Given the description of an element on the screen output the (x, y) to click on. 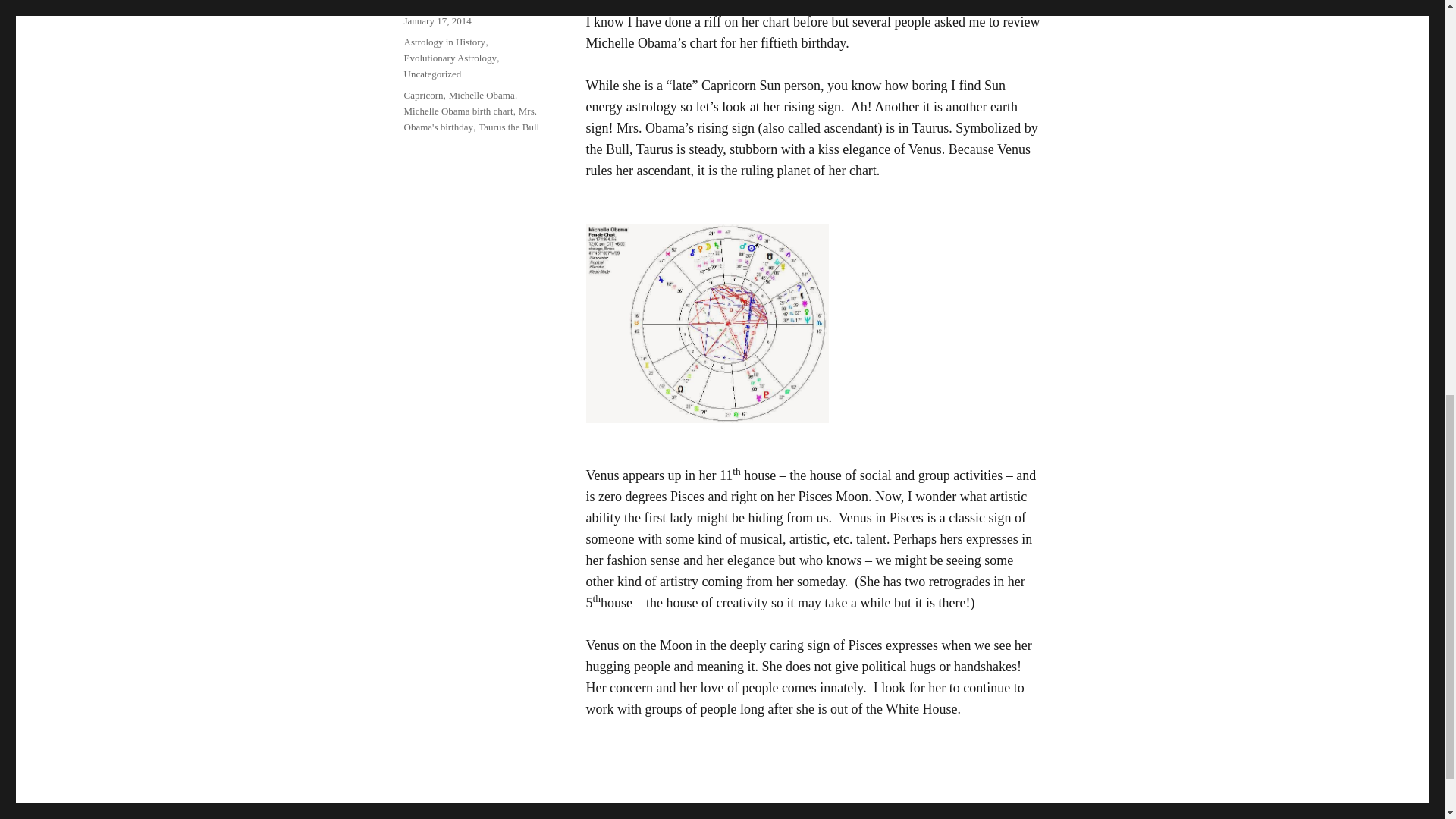
Capricorn (422, 94)
Joan Porte (287, 812)
Mrs. Obama's birthday (469, 118)
Taurus the Bull (508, 126)
Michelle Obama birth chart (457, 111)
January 17, 2014 (436, 20)
Michelle Obama (481, 94)
Proudly powered by WordPress (383, 812)
Astrology in History (443, 41)
Uncategorized (432, 73)
Evolutionary Astrology (449, 57)
